Given the description of an element on the screen output the (x, y) to click on. 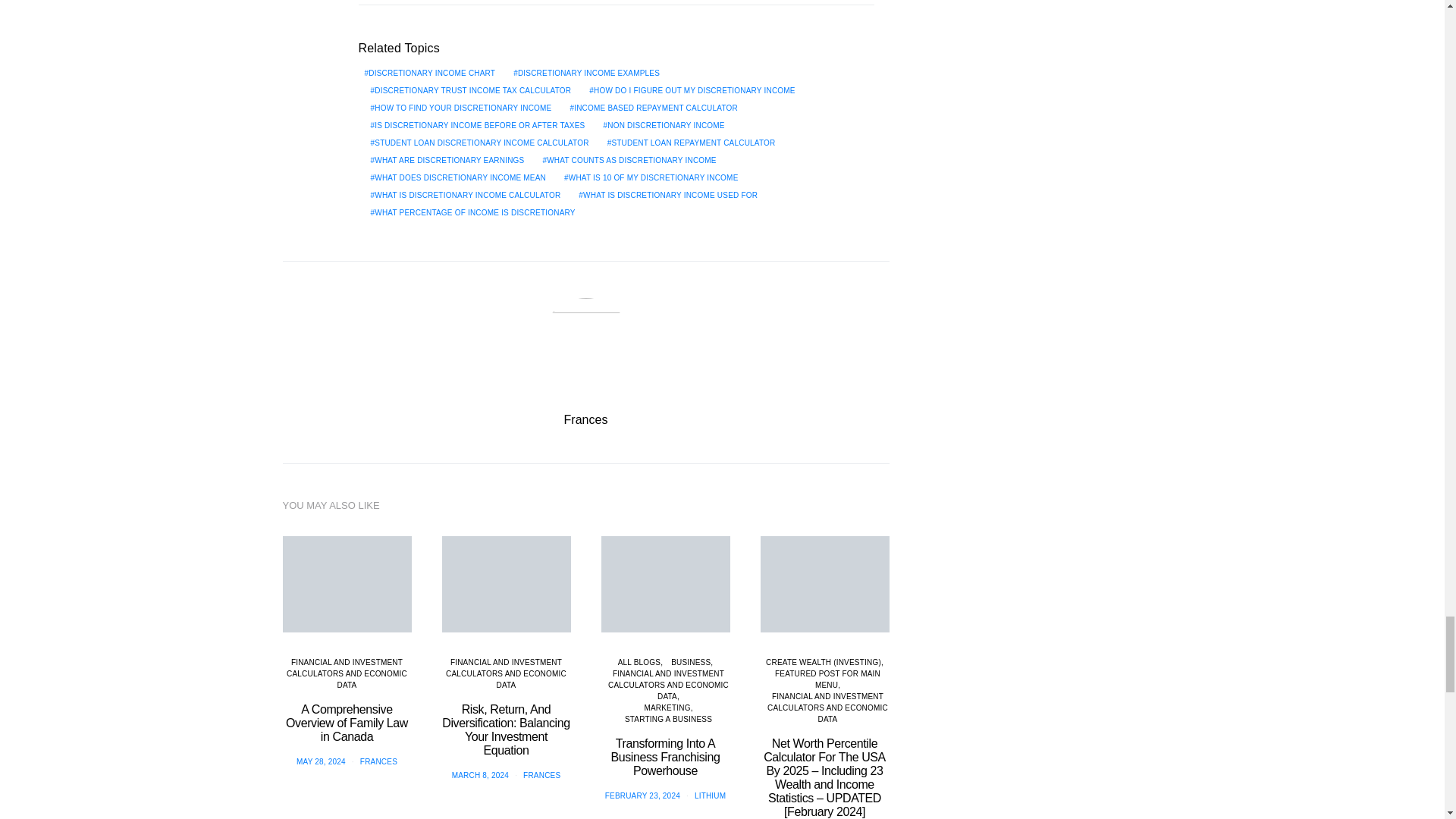
View all posts by Frances (378, 761)
View all posts by lithium (709, 795)
View all posts by Frances (541, 775)
